Given the description of an element on the screen output the (x, y) to click on. 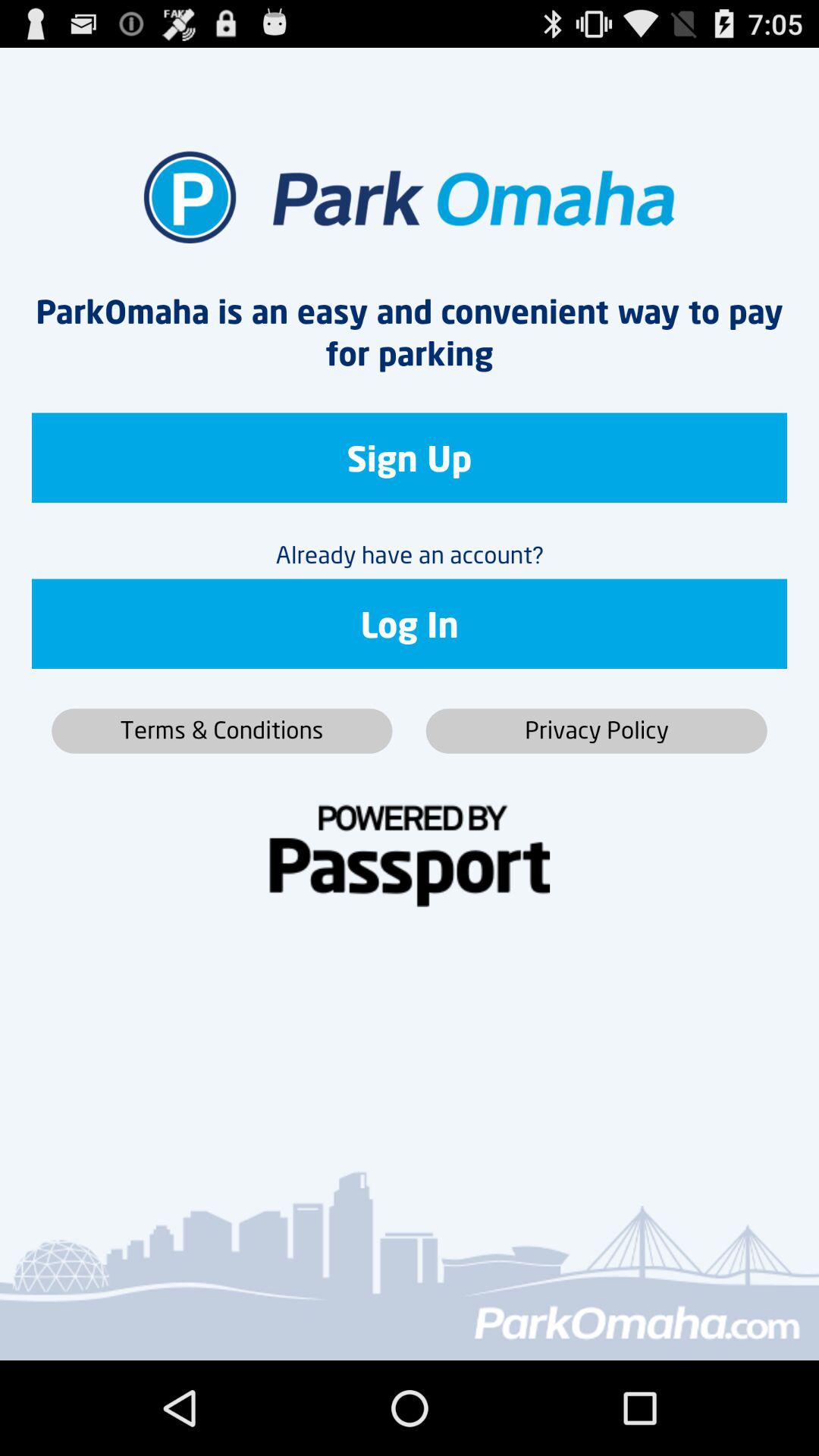
turn on log in icon (409, 623)
